Given the description of an element on the screen output the (x, y) to click on. 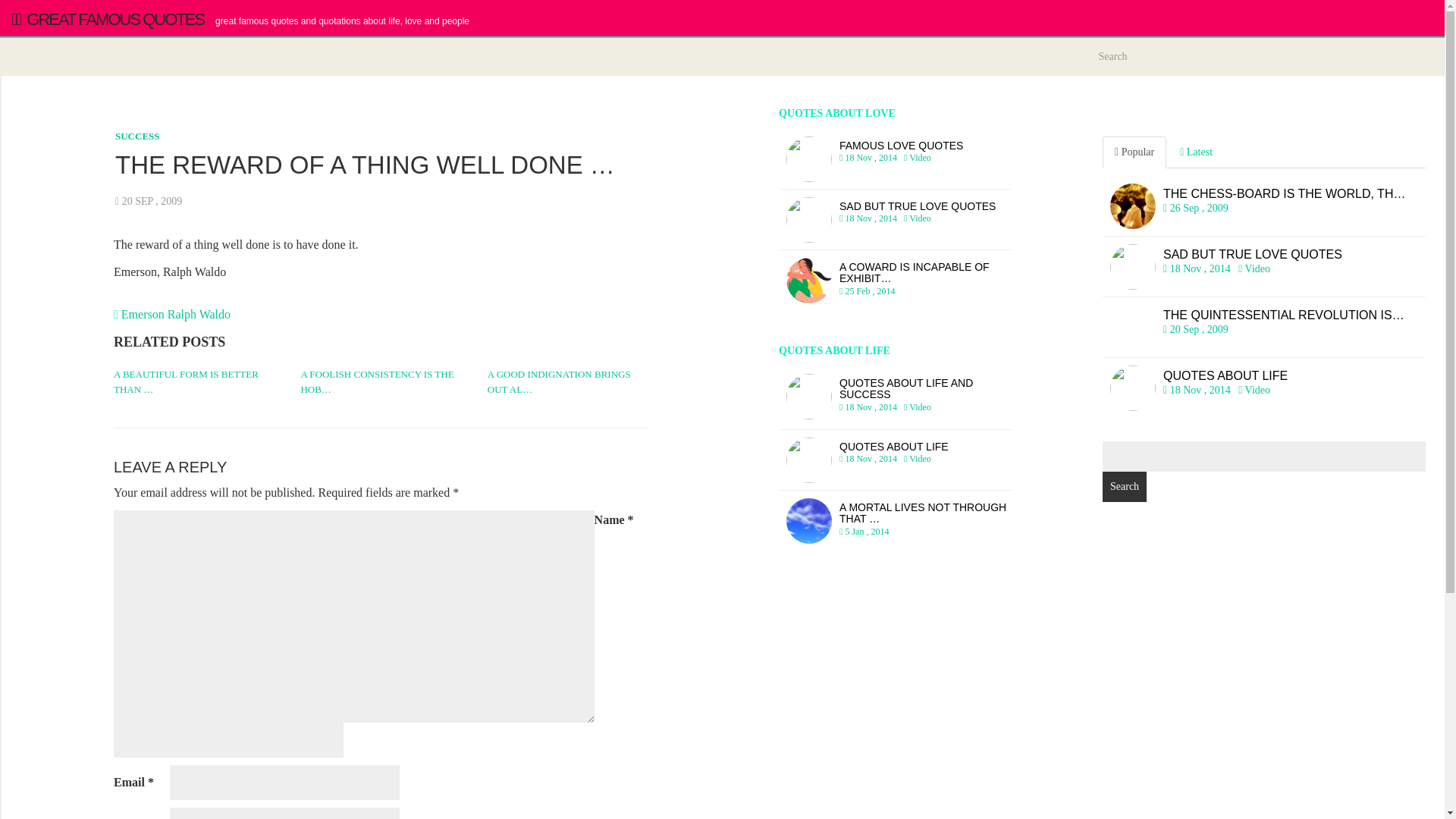
SUCCESS (894, 397)
Popular (137, 135)
Search (1134, 152)
Search (1124, 486)
Emerson Ralph Waldo (1263, 266)
Latest (894, 158)
  GREAT FAMOUS QUOTES (894, 459)
